Given the description of an element on the screen output the (x, y) to click on. 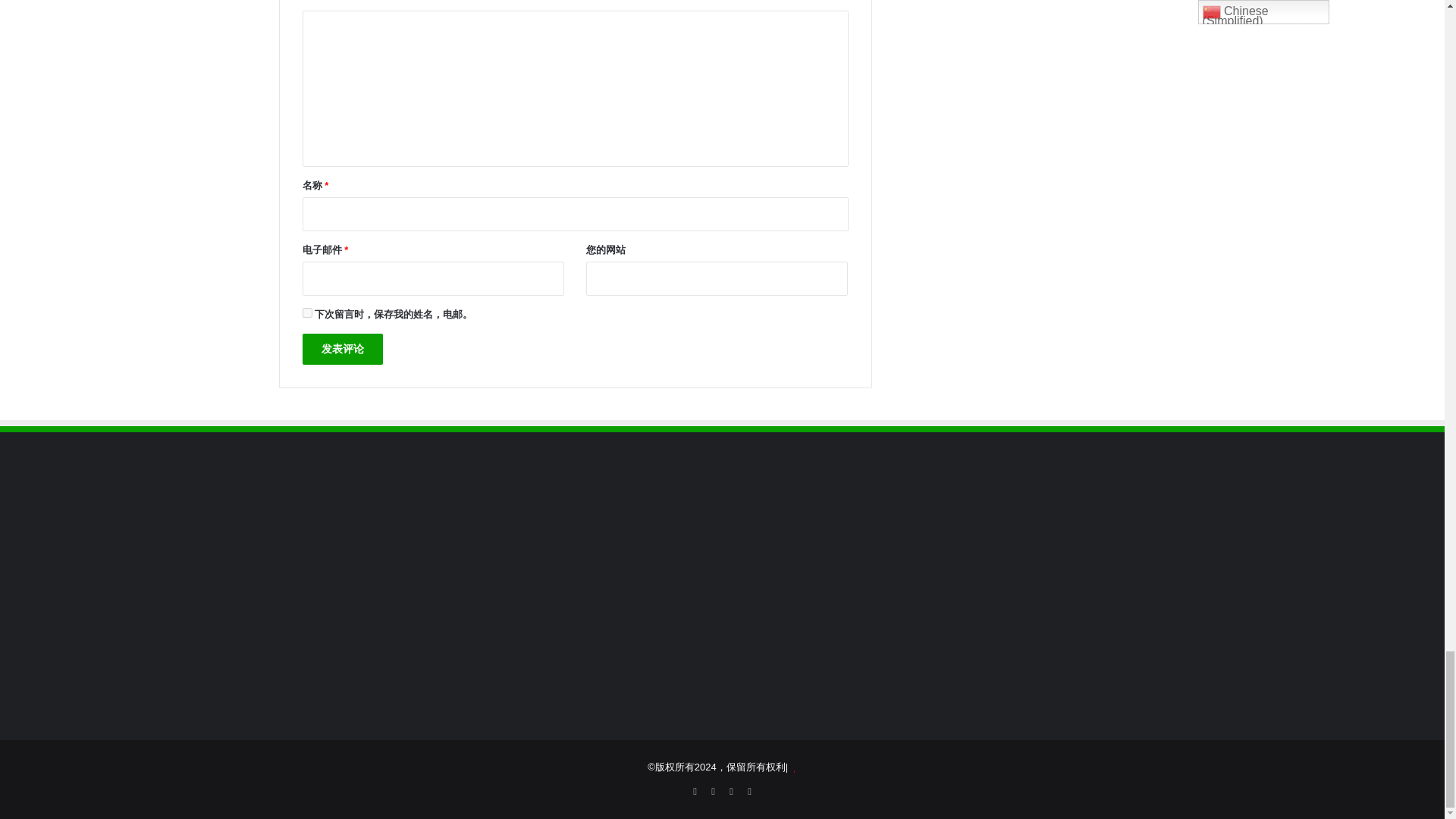
yes (306, 312)
